Given the description of an element on the screen output the (x, y) to click on. 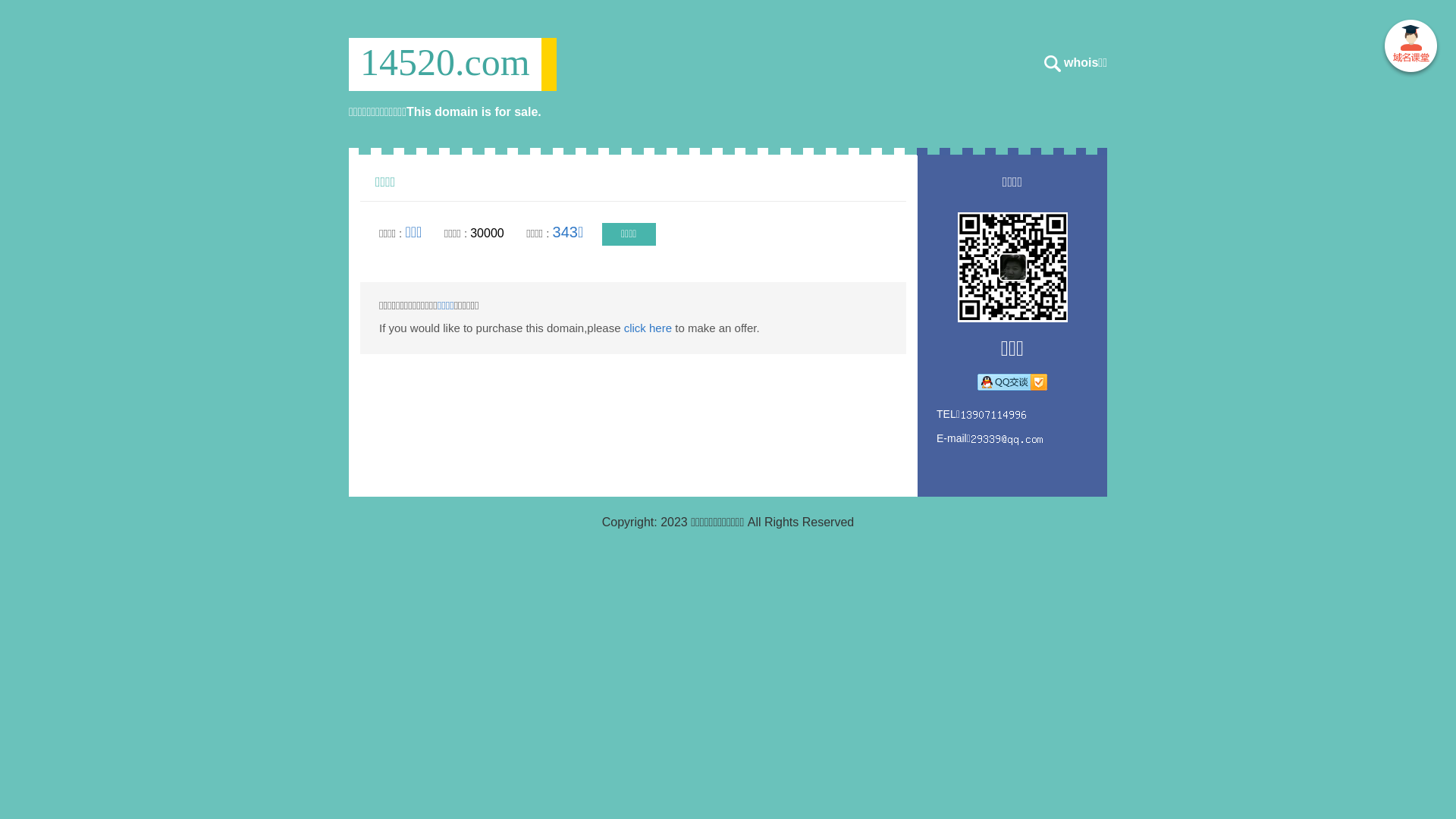
  Element type: text (1410, 48)
click here Element type: text (647, 327)
